Given the description of an element on the screen output the (x, y) to click on. 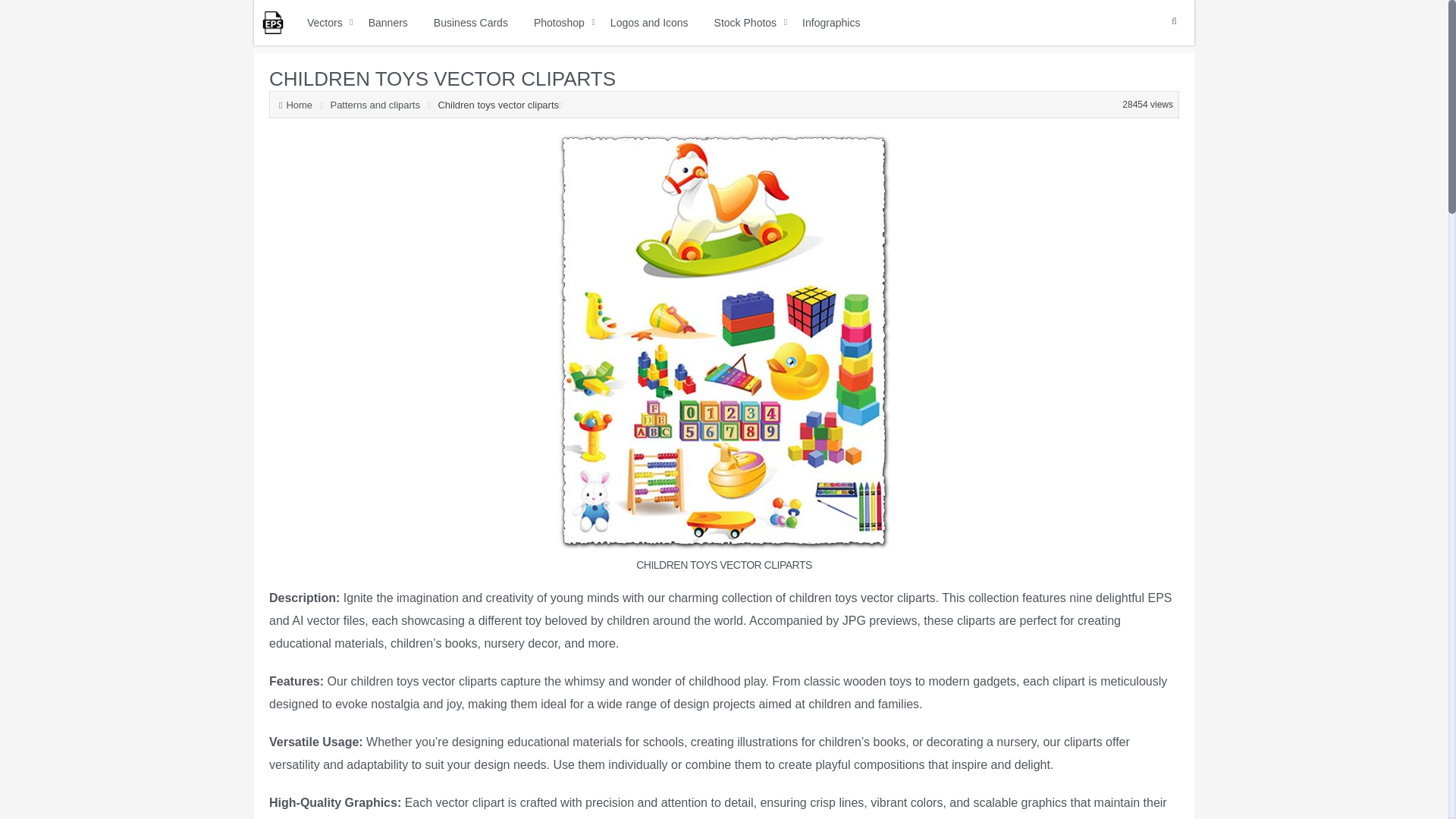
Home (299, 104)
Logos and Icons (648, 22)
Photoshop graphics for download (558, 22)
Infographics with labels and tags (830, 22)
Stock, Royalty Free and Free Photos and Images (745, 22)
Free vector materials (324, 22)
Infographics (830, 22)
Photoshop (558, 22)
CHILDREN TOYS VECTOR CLIPARTS (442, 78)
